Given the description of an element on the screen output the (x, y) to click on. 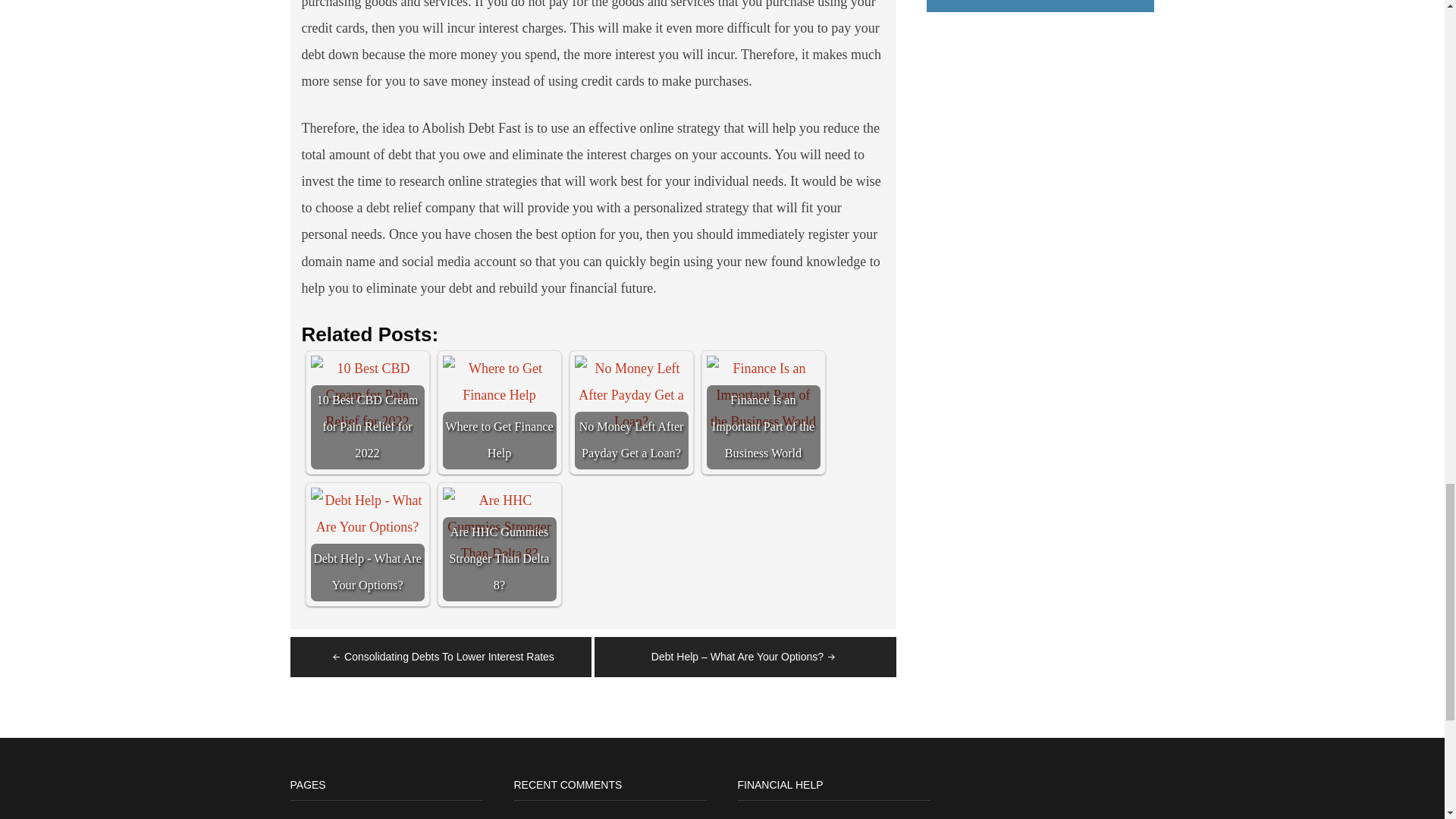
Are HHC Gummies Stronger Than Delta 8? (499, 527)
Finance Is an Important Part of the Business World (763, 412)
Are HHC Gummies Stronger Than Delta 8? (499, 544)
10 Best CBD Cream for Pain Relief for 2022 (368, 412)
Where to Get Finance Help (499, 412)
No Money Left After Payday Get a Loan? (631, 394)
10 Best CBD Cream for Pain Relief for 2022 (368, 394)
Where to Get Finance Help (499, 381)
Debt Help - What Are Your Options? (368, 513)
Consolidating Debts To Lower Interest Rates (440, 656)
Finance Is an Important Part of the Business World (763, 394)
Debt Help - What Are Your Options? (368, 544)
No Money Left After Payday Get a Loan? (631, 412)
